Given the description of an element on the screen output the (x, y) to click on. 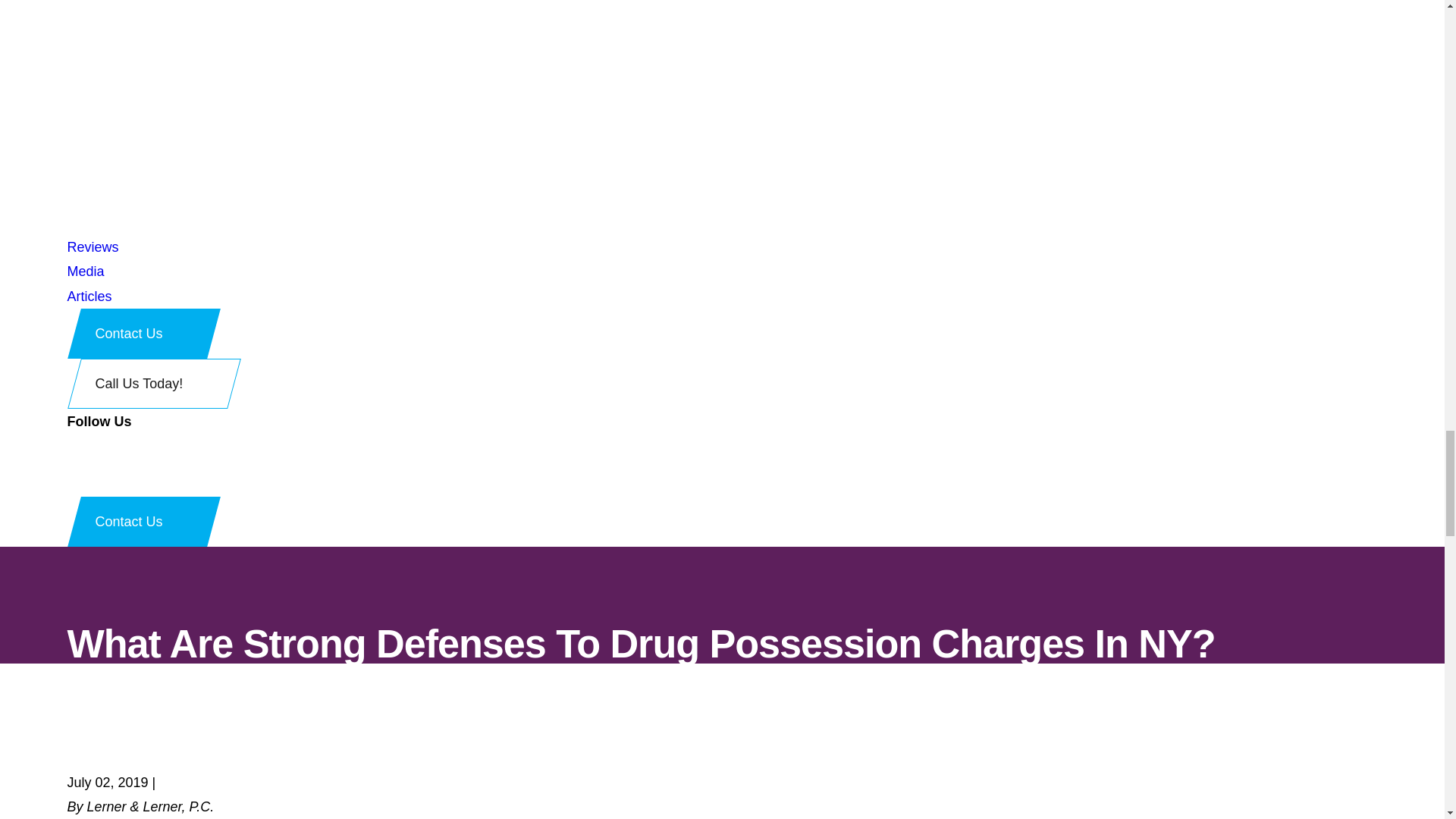
Facebook (73, 459)
Twitter (73, 483)
